Given the description of an element on the screen output the (x, y) to click on. 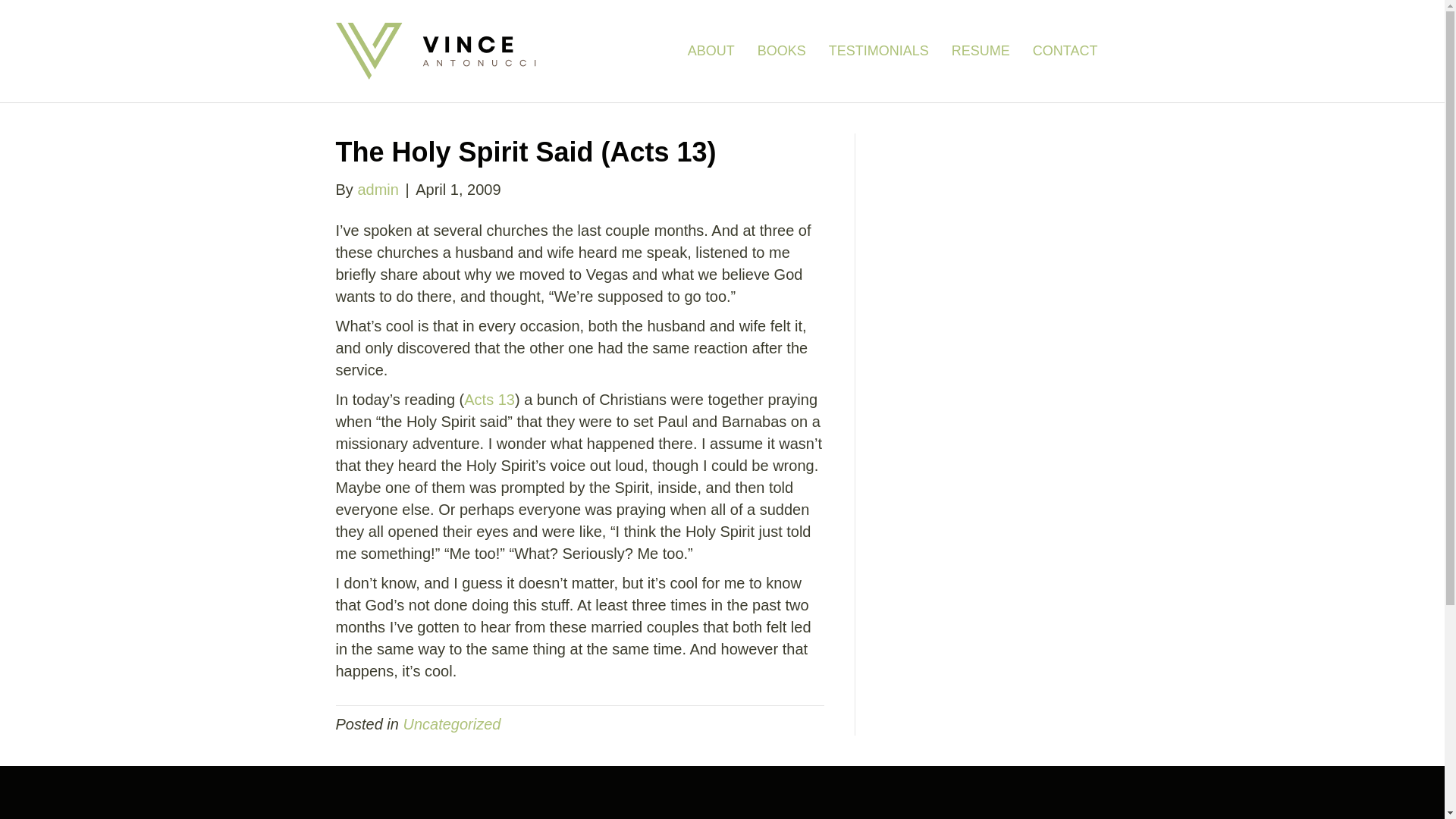
CONTACT (1065, 51)
RESUME (981, 51)
TESTIMONIALS (878, 51)
Acts 13 (489, 399)
BOOKS (780, 51)
ABOUT (711, 51)
Uncategorized (451, 723)
admin (376, 189)
